Given the description of an element on the screen output the (x, y) to click on. 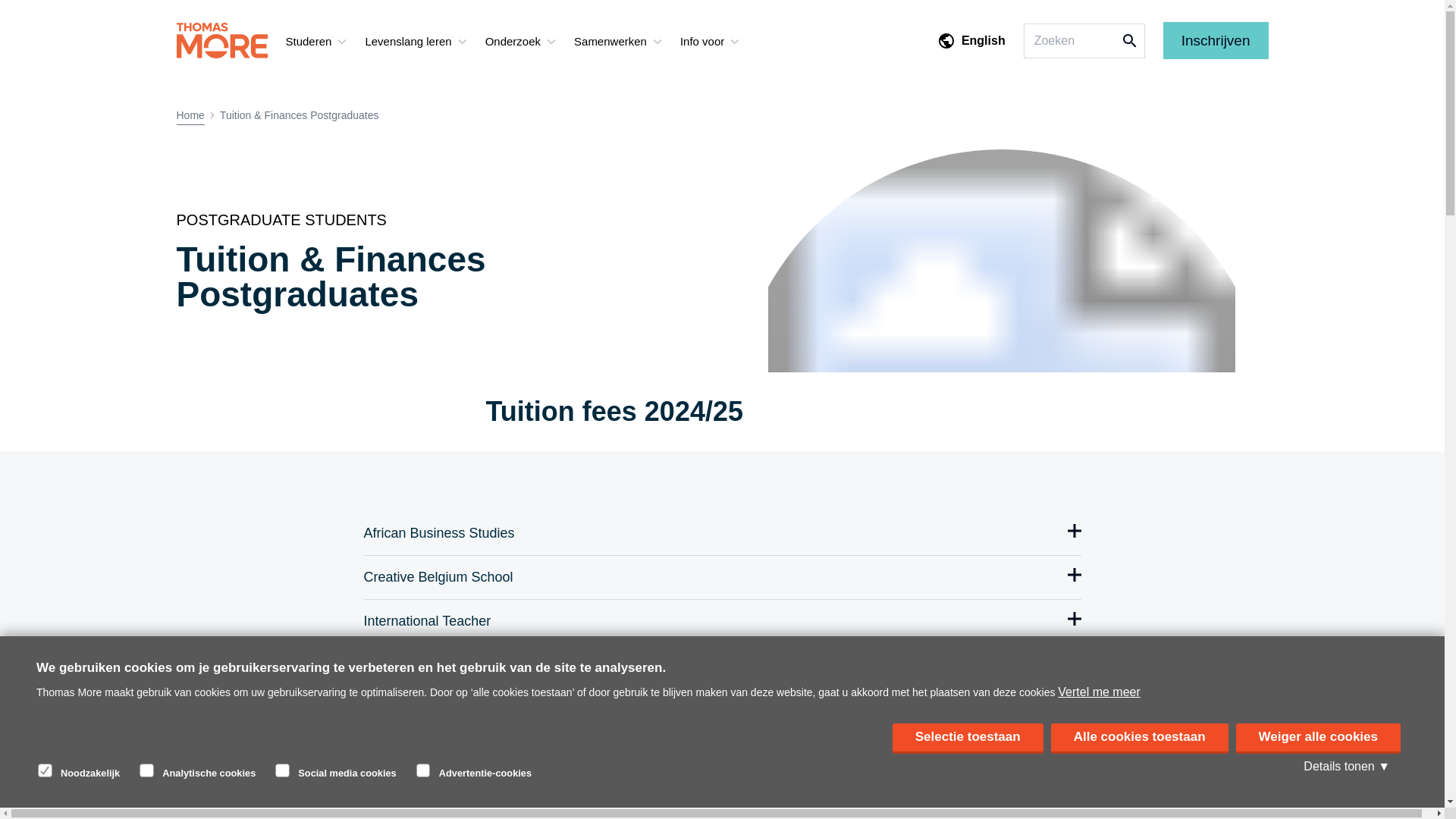
Vertel me meer (1099, 793)
Selectie toestaan (967, 807)
Details tonen (1346, 783)
Weiger alle cookies (1318, 775)
Alle cookies toestaan (1139, 798)
